Given the description of an element on the screen output the (x, y) to click on. 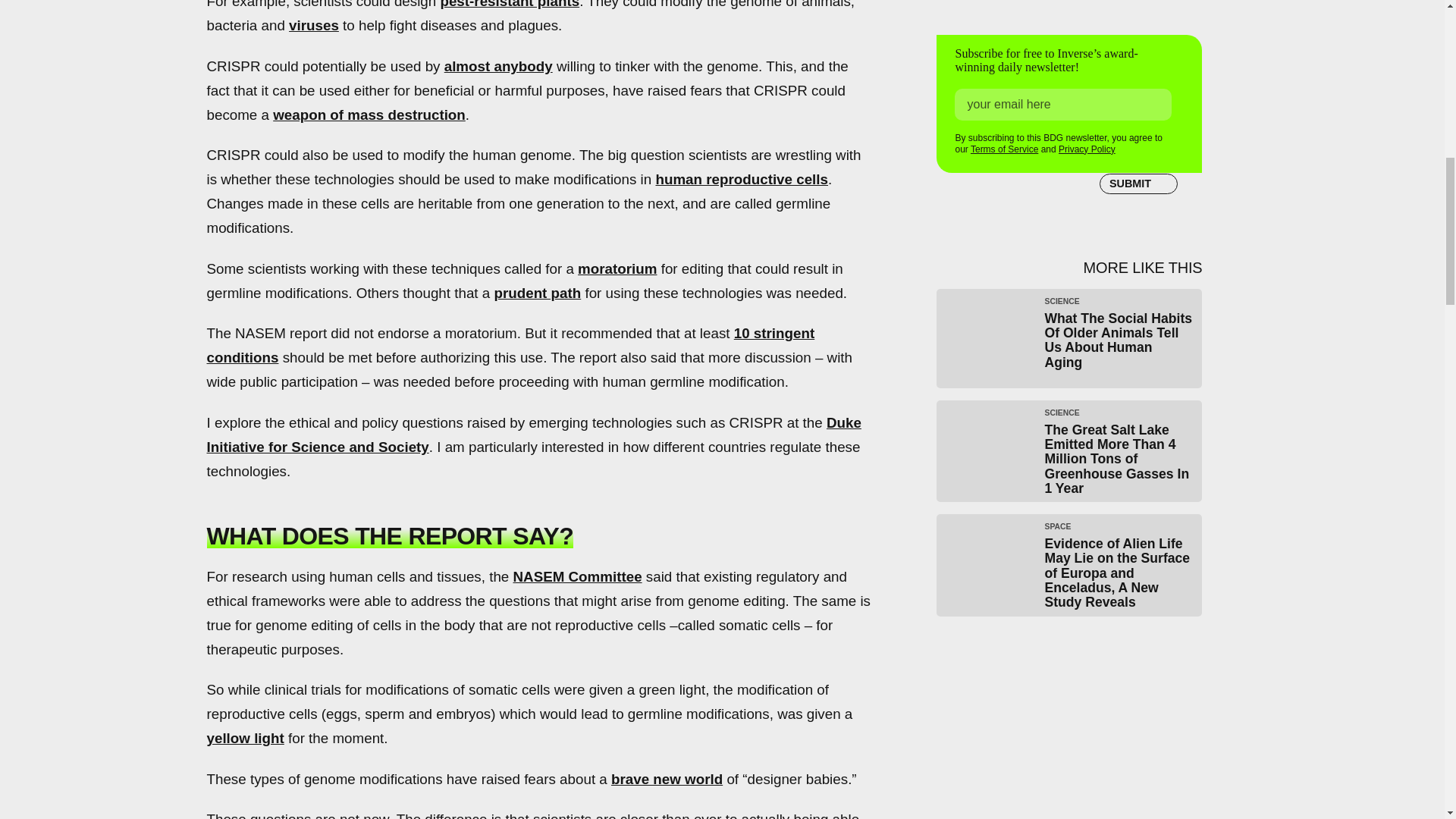
yellow light (244, 738)
moratorium (617, 268)
Duke Initiative for Science and Society (533, 434)
10 stringent conditions (509, 345)
NASEM Committee (577, 576)
SUBMIT (1138, 183)
prudent path (536, 293)
weapon of mass destruction (369, 114)
almost anybody (498, 66)
brave new world (666, 779)
pest-resistant plants (509, 4)
human reproductive cells (741, 179)
viruses (313, 25)
